Given the description of an element on the screen output the (x, y) to click on. 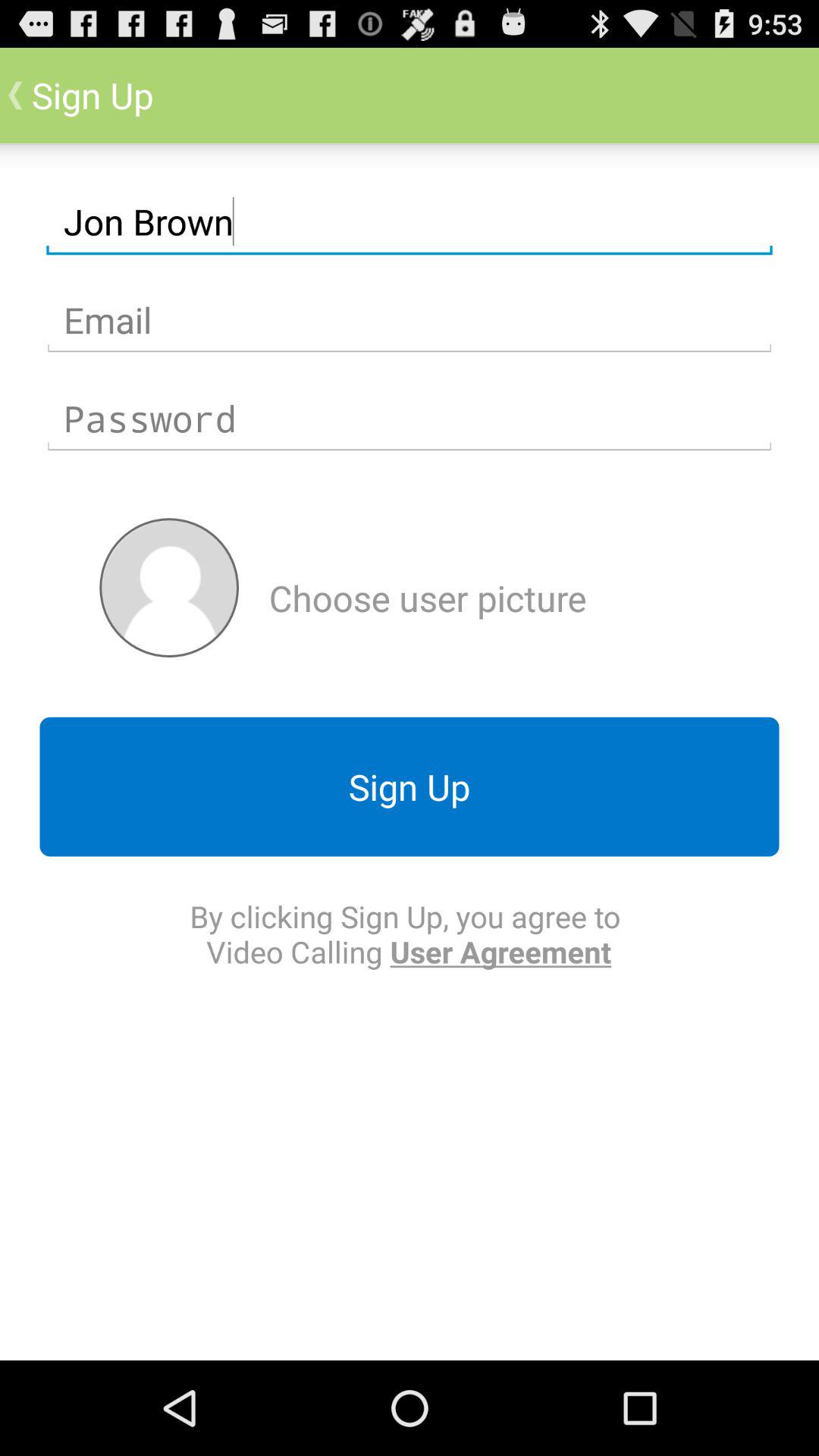
enter password (409, 418)
